Given the description of an element on the screen output the (x, y) to click on. 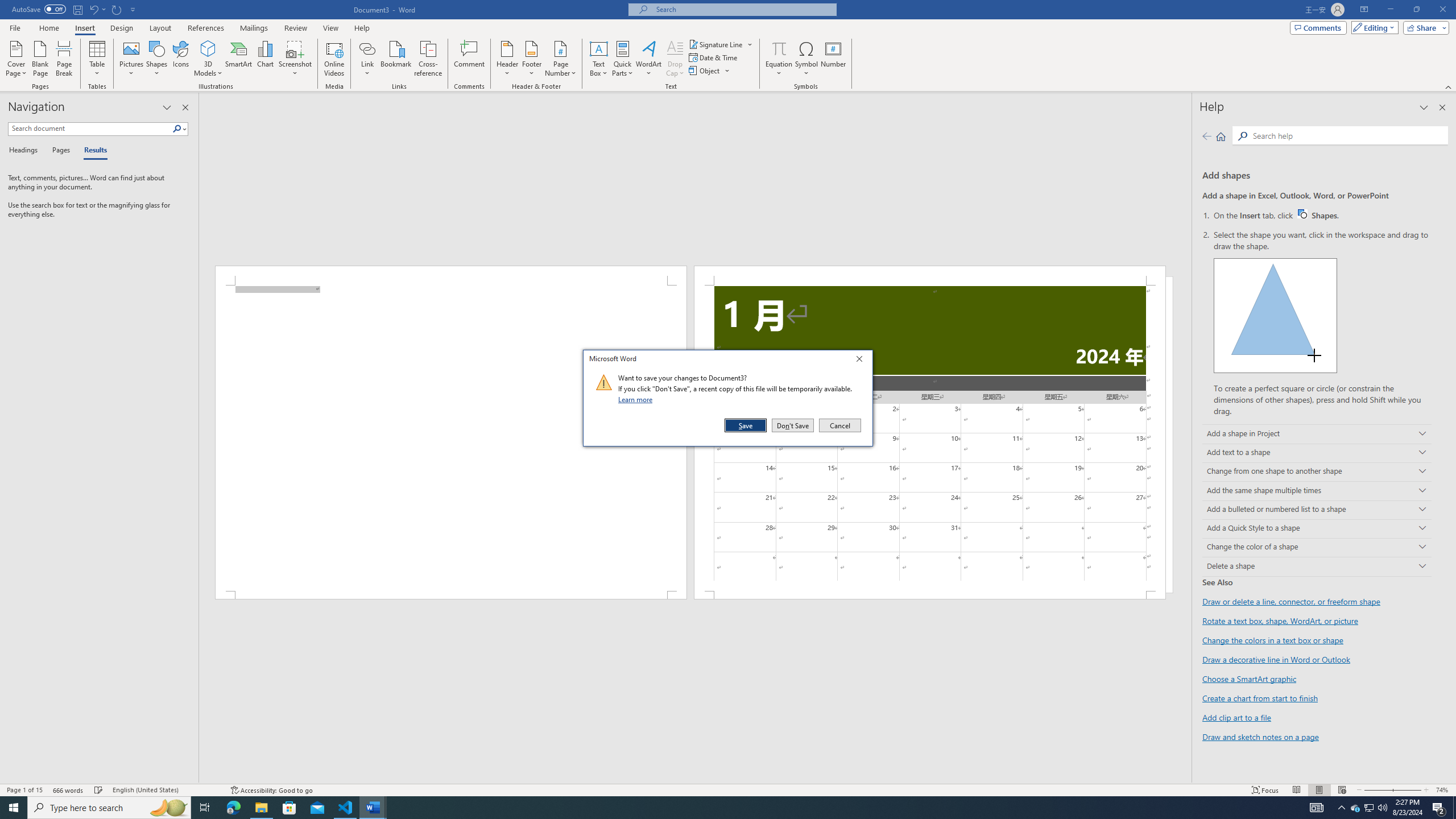
Object... (709, 69)
Task View (1368, 807)
Signature Line (204, 807)
Shapes (721, 44)
Signature Line (156, 58)
AutomationID: 4105 (716, 44)
